Given the description of an element on the screen output the (x, y) to click on. 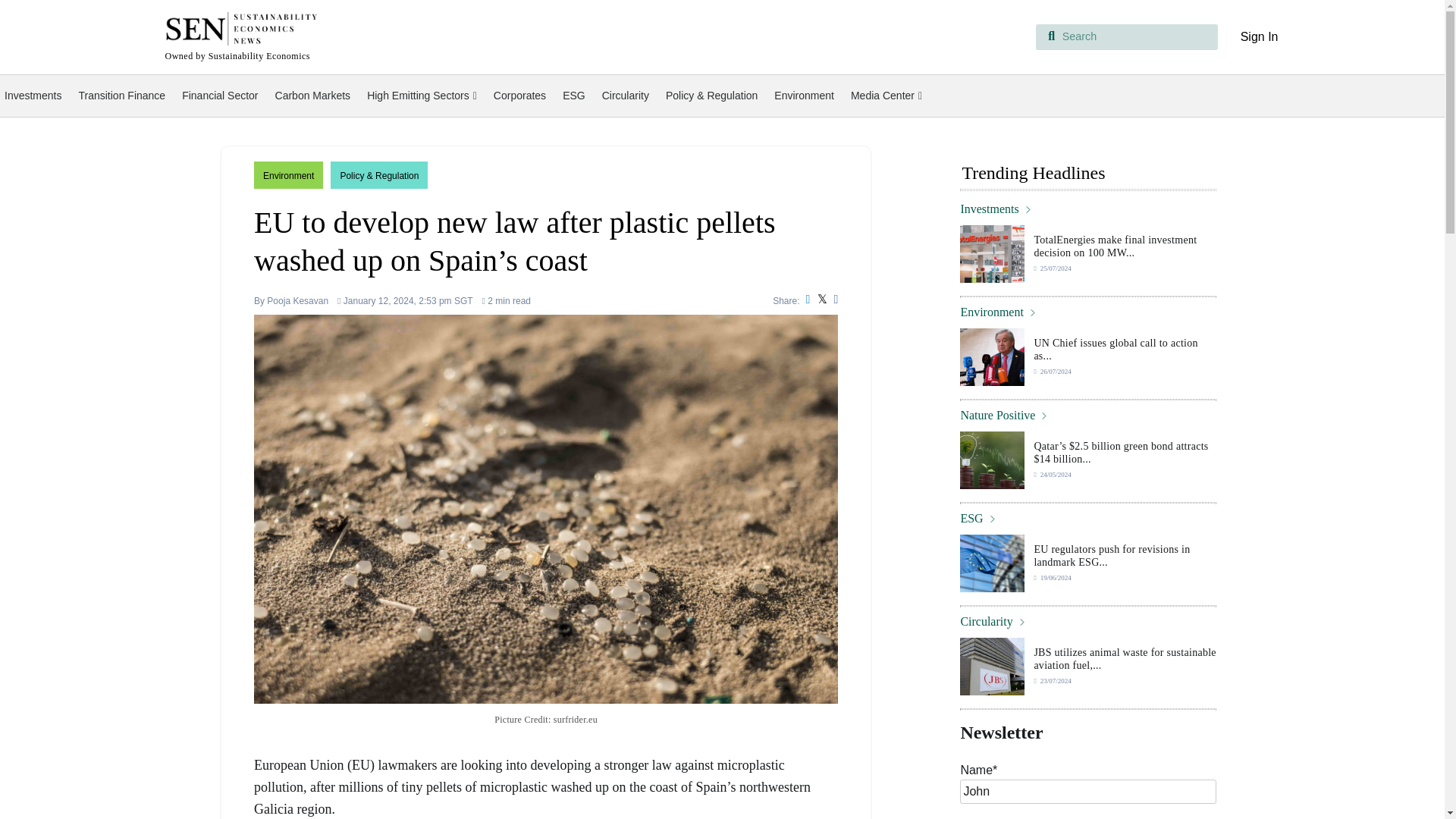
Investments (32, 95)
High Emitting Sectors (421, 95)
Carbon Markets (312, 95)
Financial Sector (219, 95)
Sign In (1259, 36)
Transition Finance (122, 95)
